Given the description of an element on the screen output the (x, y) to click on. 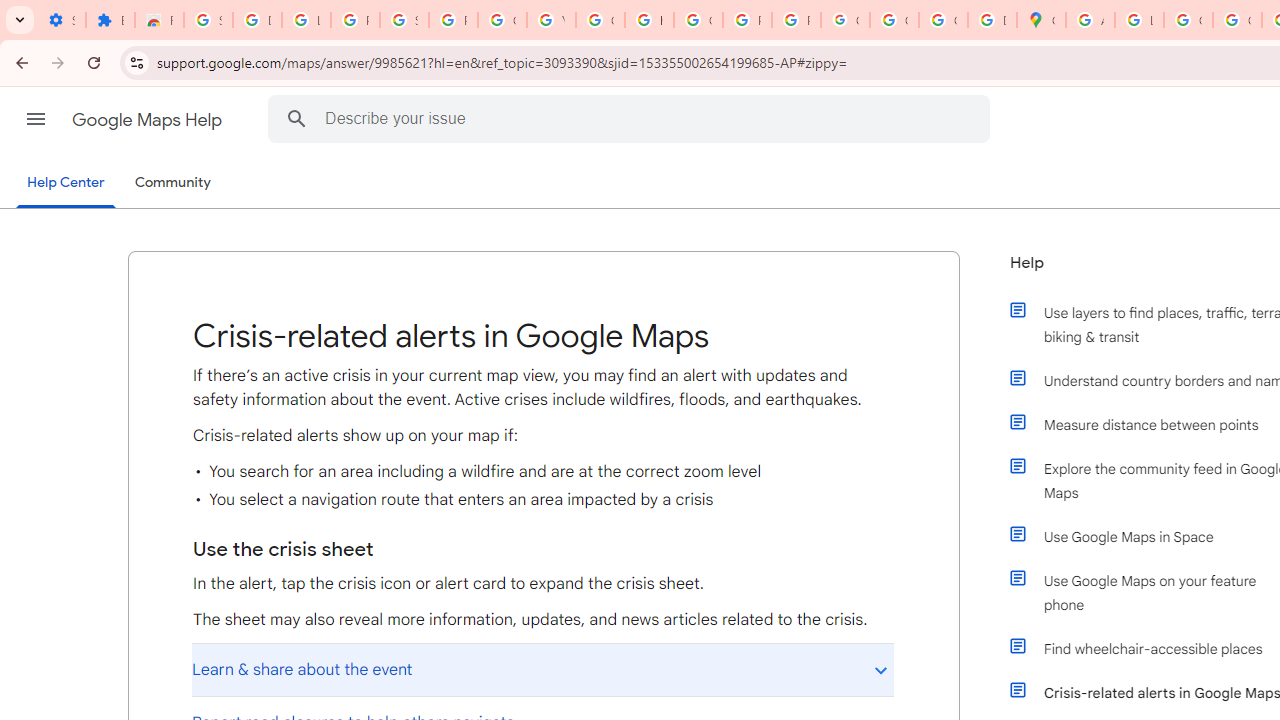
Delete photos & videos - Computer - Google Photos Help (257, 20)
Describe your issue (632, 118)
Google Maps (1041, 20)
Sign in - Google Accounts (404, 20)
YouTube (551, 20)
